Given the description of an element on the screen output the (x, y) to click on. 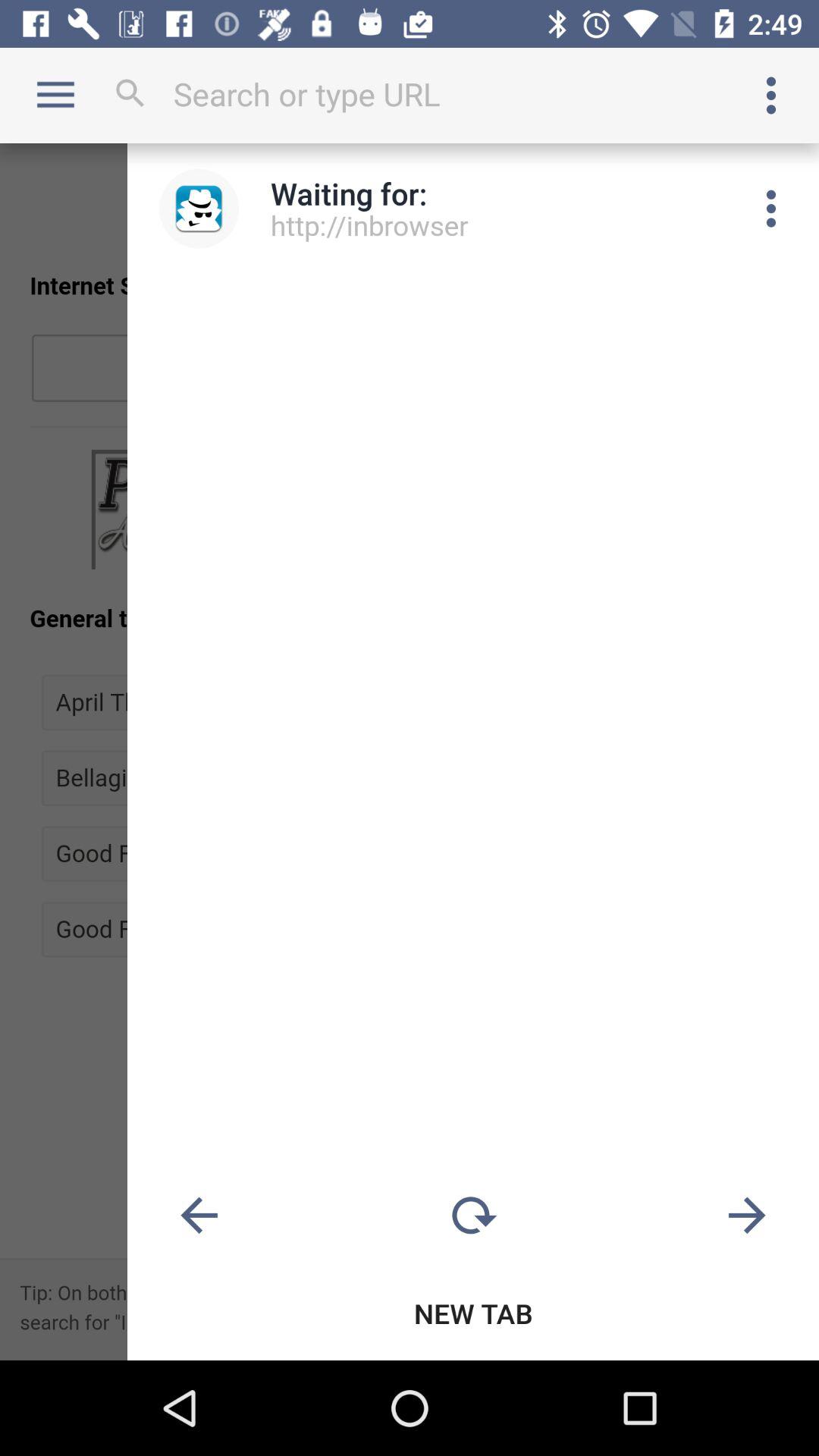
go to previous (198, 1216)
